Given the description of an element on the screen output the (x, y) to click on. 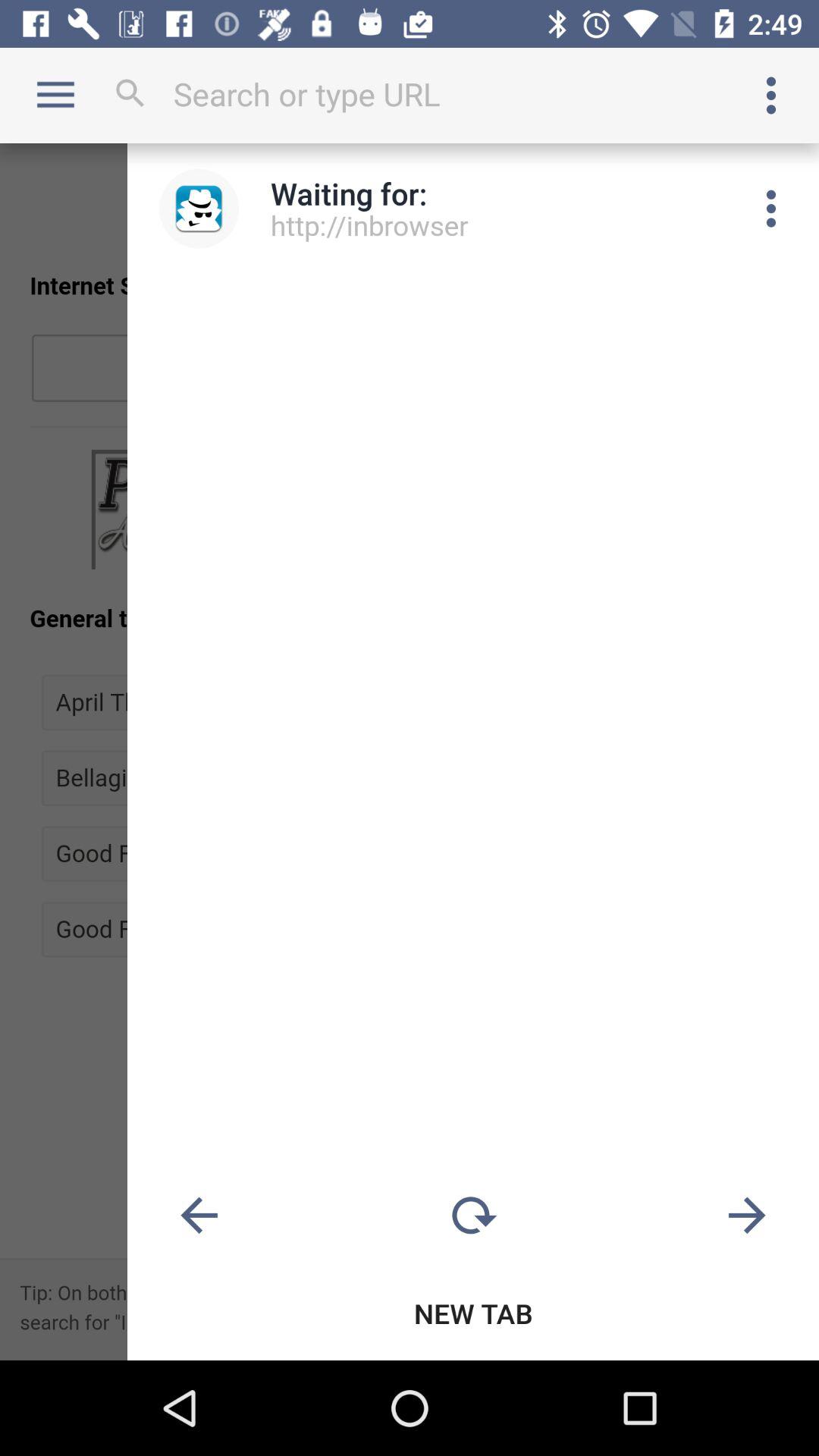
go to previous (198, 1216)
